Given the description of an element on the screen output the (x, y) to click on. 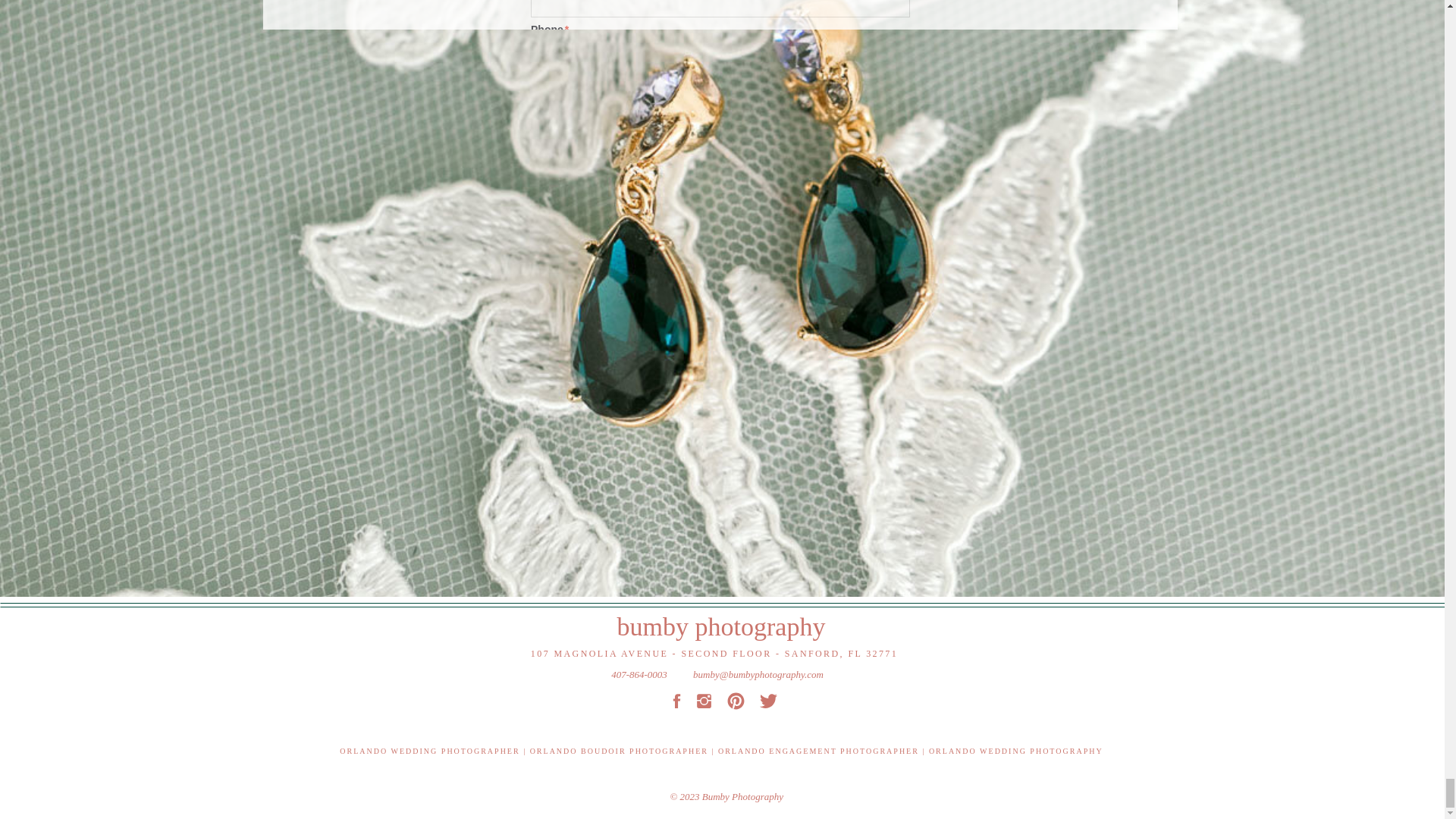
407-864-0003 (638, 672)
